Given the description of an element on the screen output the (x, y) to click on. 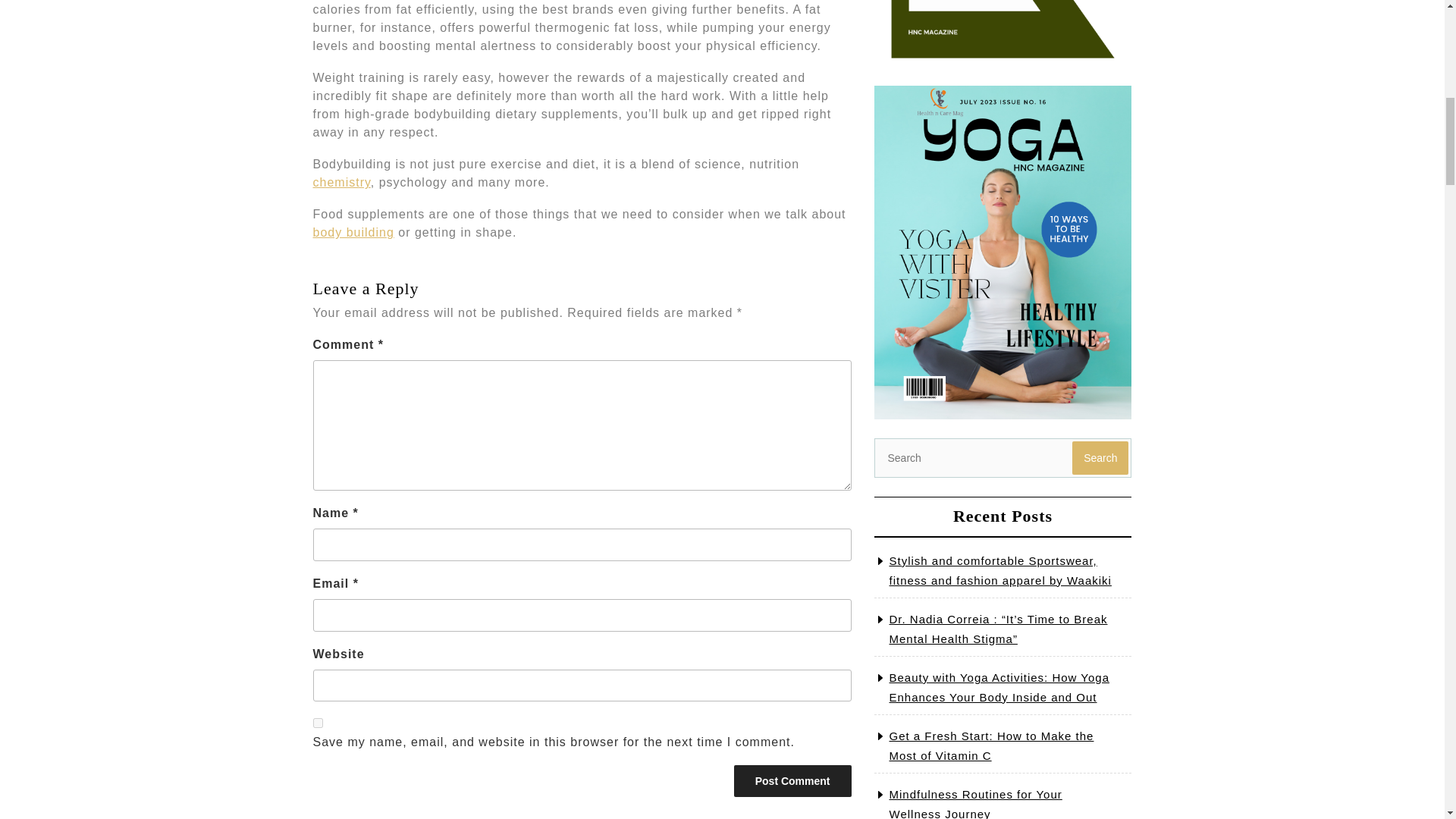
yes (317, 723)
Post Comment (792, 780)
Search (1099, 458)
Mindfulness Routines for Your Wellness Journey (974, 803)
Post Comment (792, 780)
body building (353, 232)
Our Magazine Aug Edition (1002, 33)
Get a Fresh Start: How to Make the Most of Vitamin C (990, 745)
chemistry (341, 182)
